Given the description of an element on the screen output the (x, y) to click on. 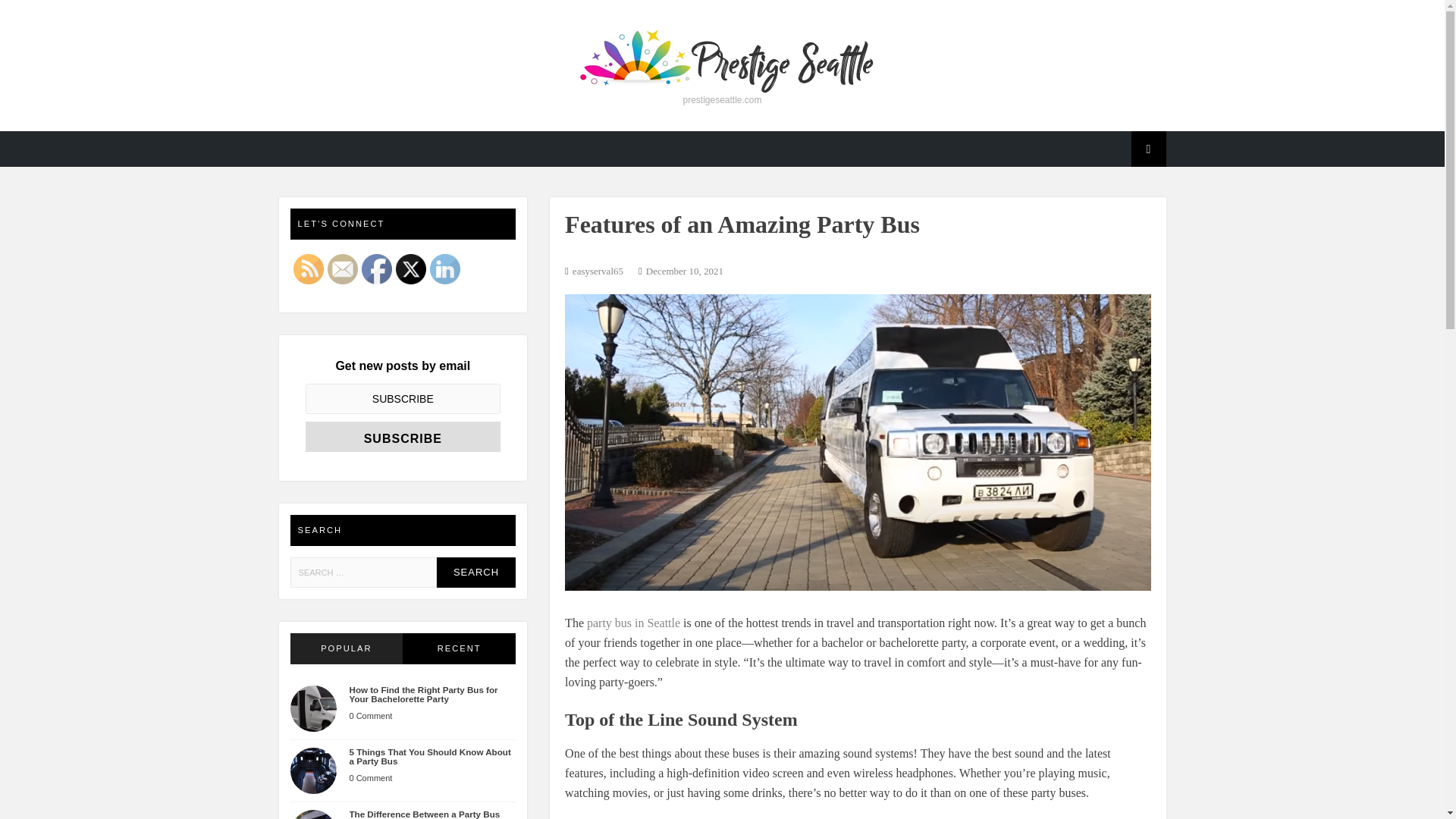
RSS (307, 268)
0 Comment (370, 715)
How to Find the Right Party Bus for Your Bachelorette Party (423, 693)
easyserval65 (597, 270)
Search (475, 572)
party bus in Seattle (631, 622)
5 Things That You Should Know About a Party Bus (430, 755)
0 Comment (370, 777)
Subscribe (402, 436)
The Difference Between a Party Bus and a Limo (424, 814)
LinkedIn (444, 268)
Twitter (411, 268)
Search (475, 572)
Facebook (376, 268)
December 10, 2021 (684, 270)
